Given the description of an element on the screen output the (x, y) to click on. 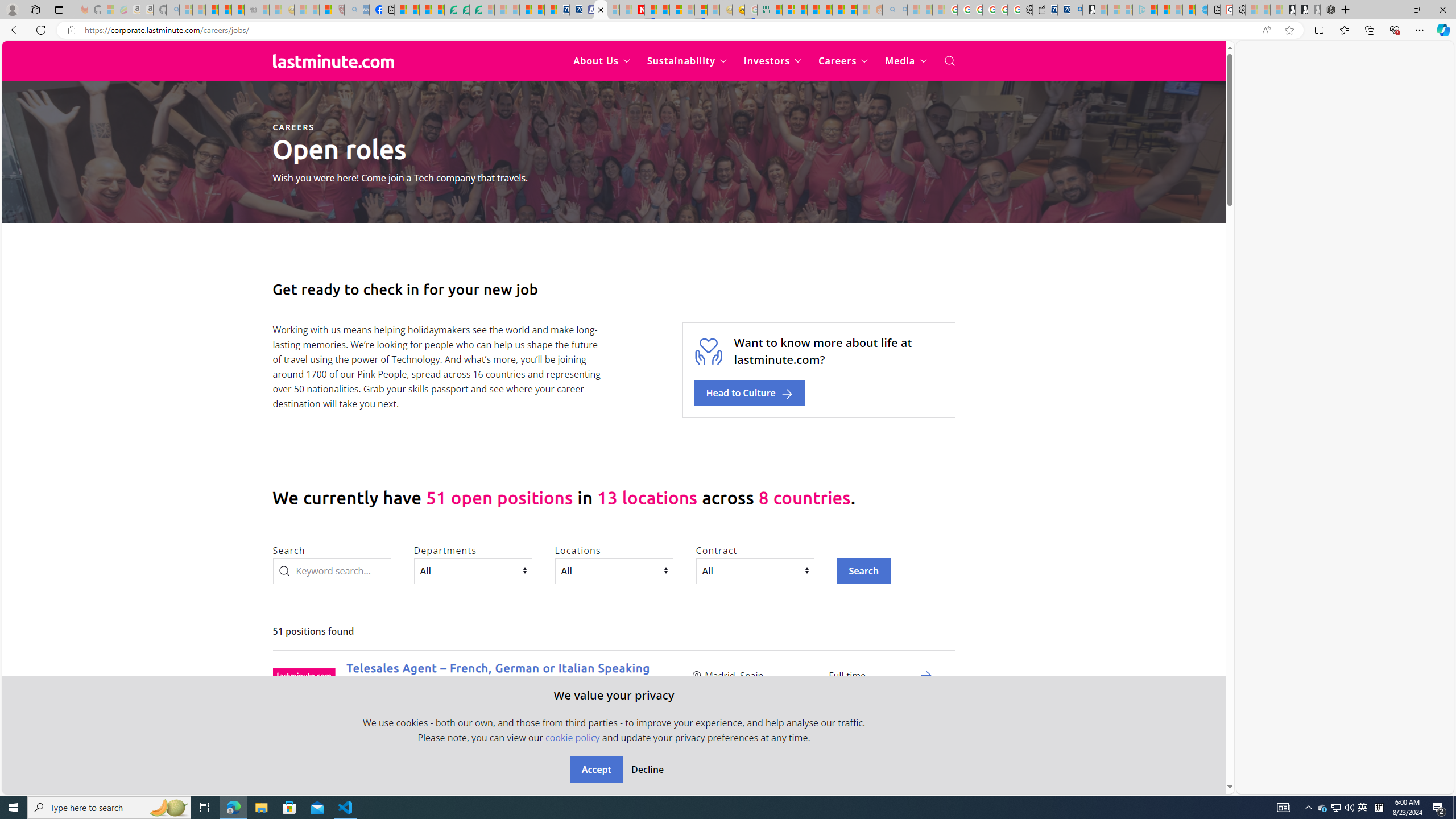
Kinda Frugal - MSN (838, 9)
Microsoft Word - consumer-privacy address update 2.2021 (475, 9)
Browser essentials (1394, 29)
Accept (596, 769)
Trusted Community Engagement and Contributions | Guidelines (650, 9)
Microsoft Start - Sleeping (1176, 9)
Latest Politics News & Archive | Newsweek.com (638, 9)
Copilot (Ctrl+Shift+.) (1442, 29)
Sustainability (686, 60)
Head to Culture (749, 393)
